Given the description of an element on the screen output the (x, y) to click on. 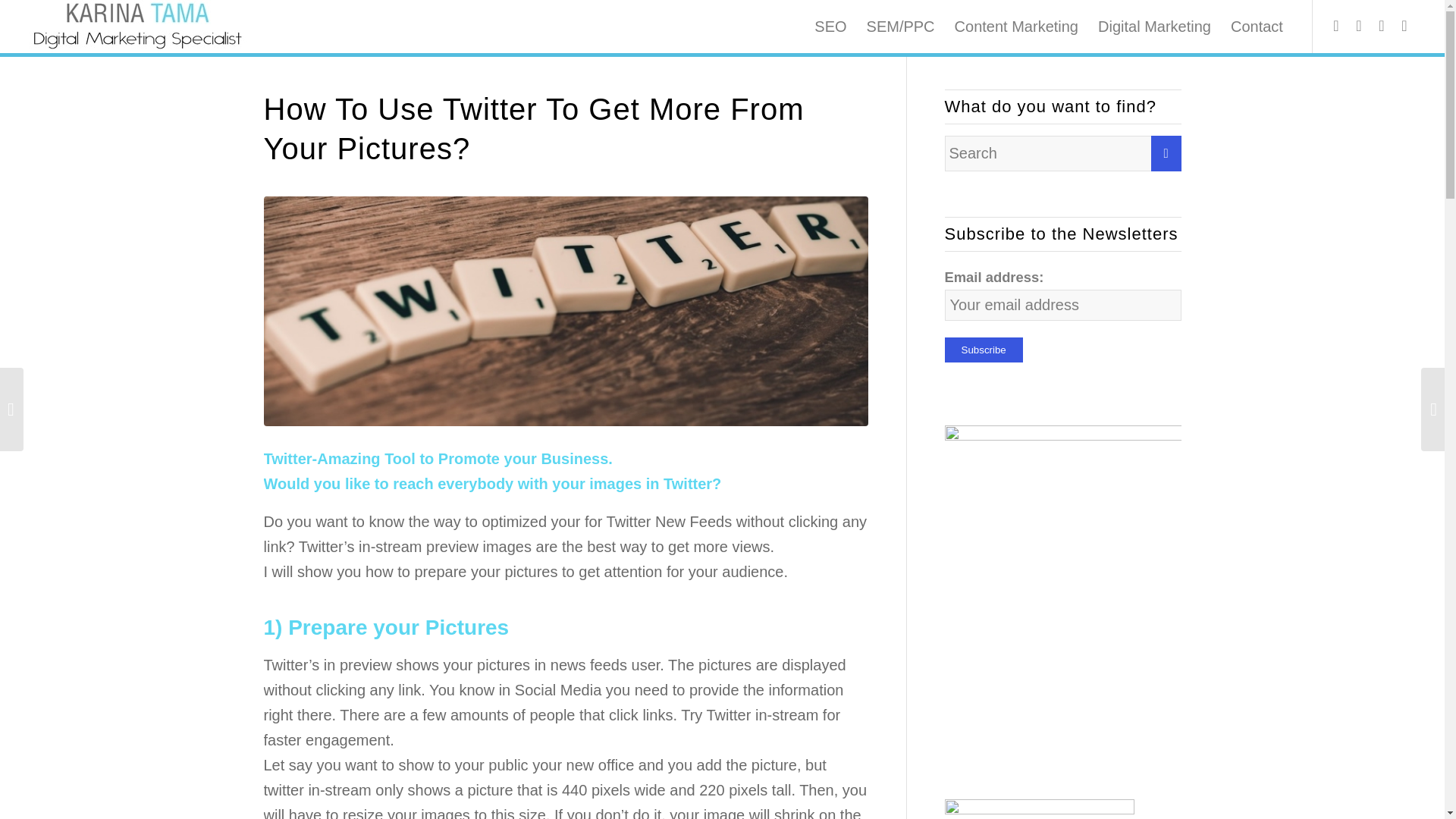
Subscribe (983, 349)
Linkedin (1359, 25)
Twitter (1404, 25)
Youtube (1381, 25)
Contact (1256, 26)
SEO (830, 26)
Digital Marketing (1154, 26)
How To Use Twitter To Get More From Your Pictures? (534, 128)
